Given the description of an element on the screen output the (x, y) to click on. 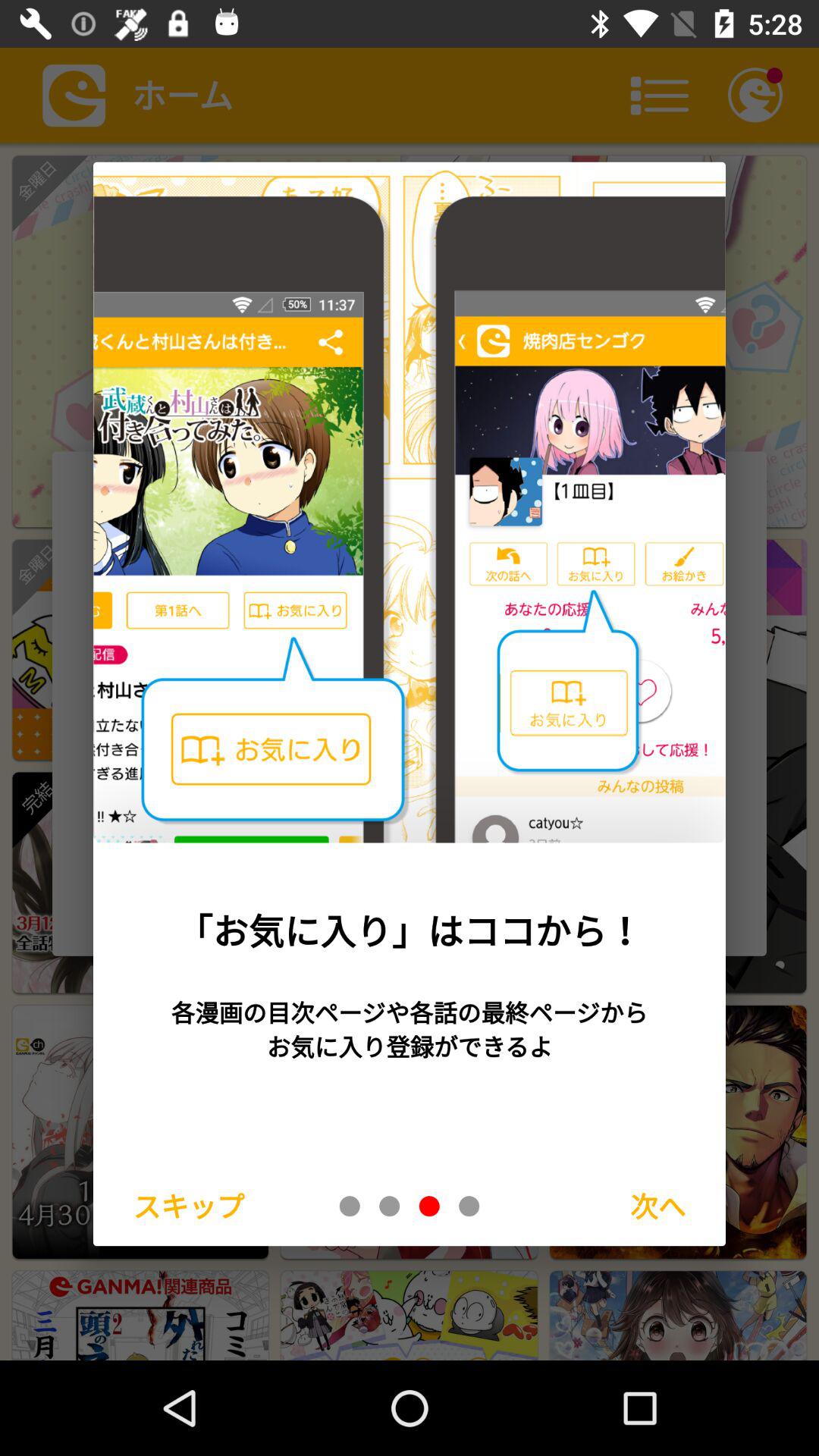
next page (469, 1206)
